Given the description of an element on the screen output the (x, y) to click on. 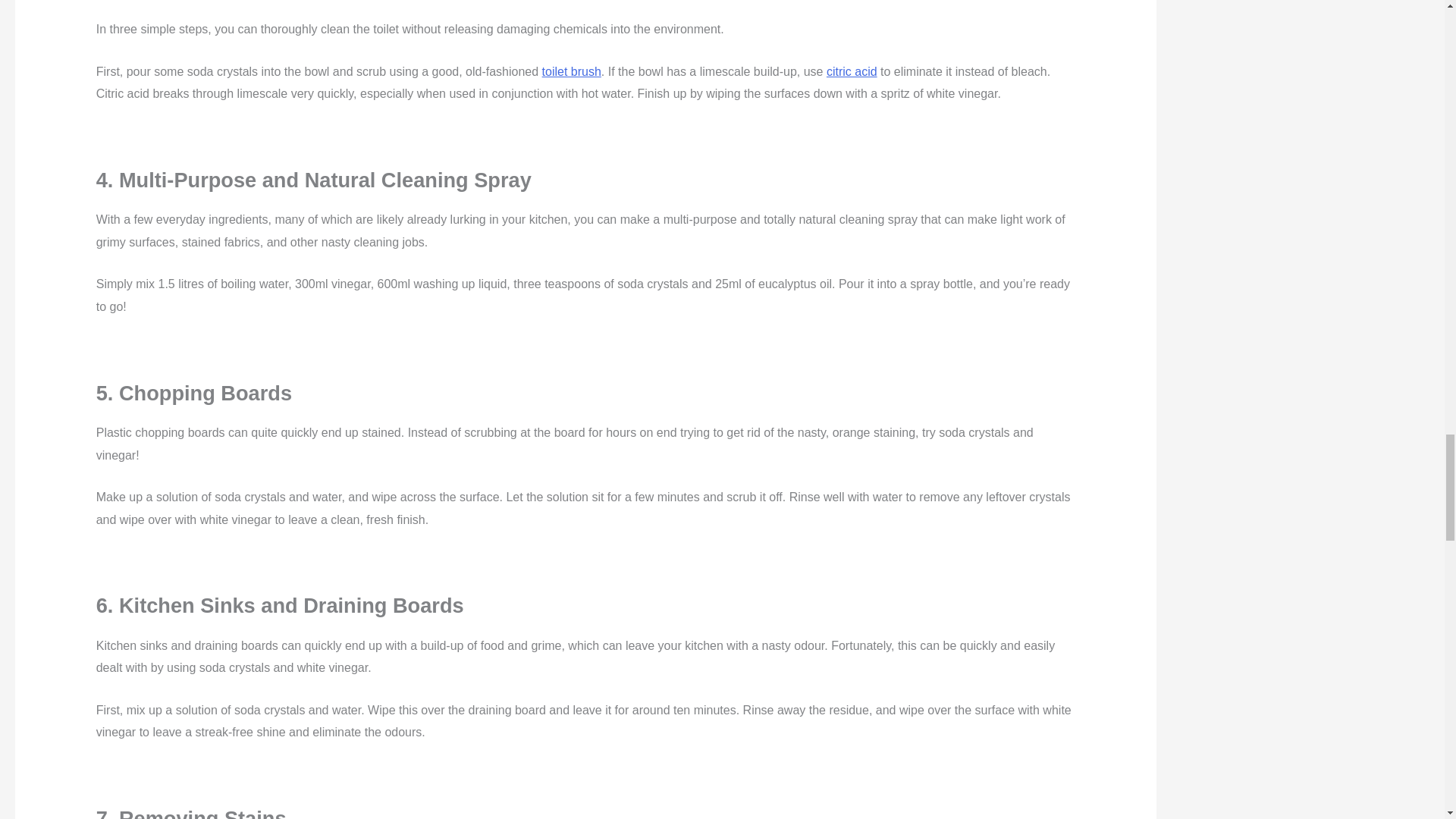
toilet brush (571, 71)
citric acid (852, 71)
